Given the description of an element on the screen output the (x, y) to click on. 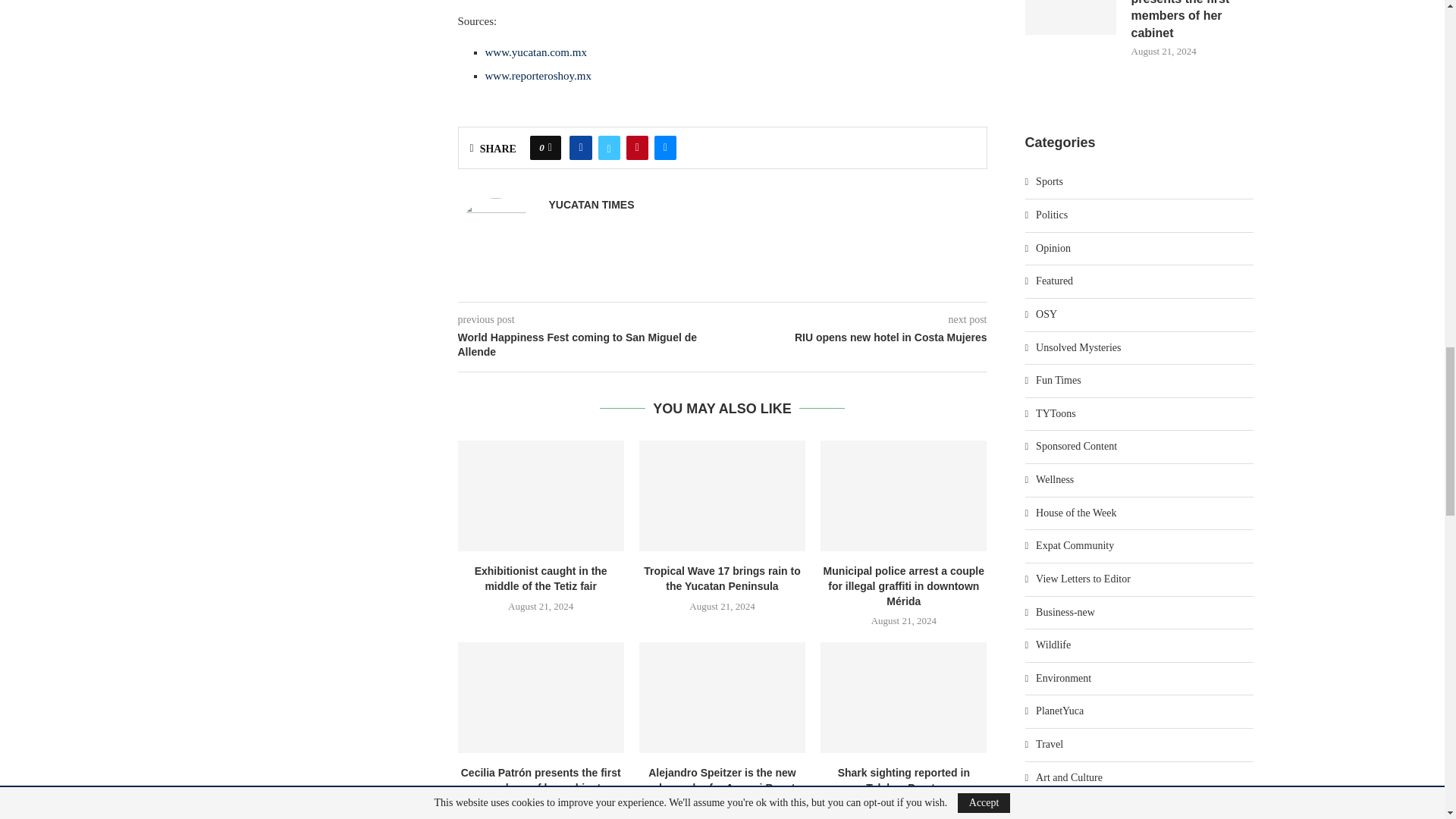
Author Yucatan Times (591, 205)
Tropical Wave 17 brings rain to the Yucatan Peninsula (722, 495)
Exhibitionist caught in the middle of the Tetiz fair (541, 495)
